Given the description of an element on the screen output the (x, y) to click on. 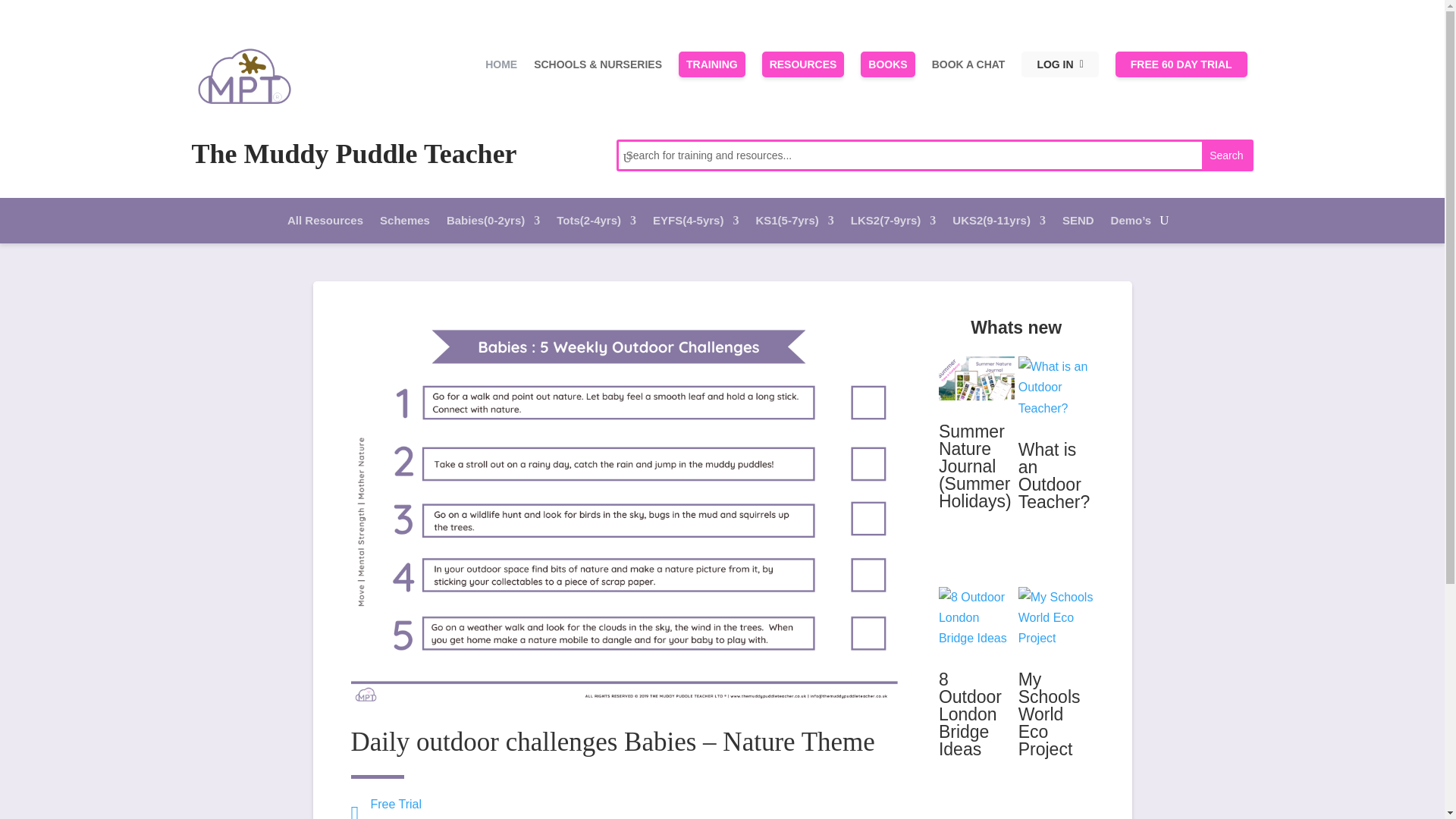
muddy puddles (244, 70)
Search (1226, 154)
LOG IN (1059, 63)
All Resources (324, 223)
FREE 60 DAY TRIAL (1181, 63)
RESOURCES (802, 63)
Search (1226, 154)
Search (1226, 154)
TRAINING (711, 63)
BOOK A CHAT (968, 64)
